Given the description of an element on the screen output the (x, y) to click on. 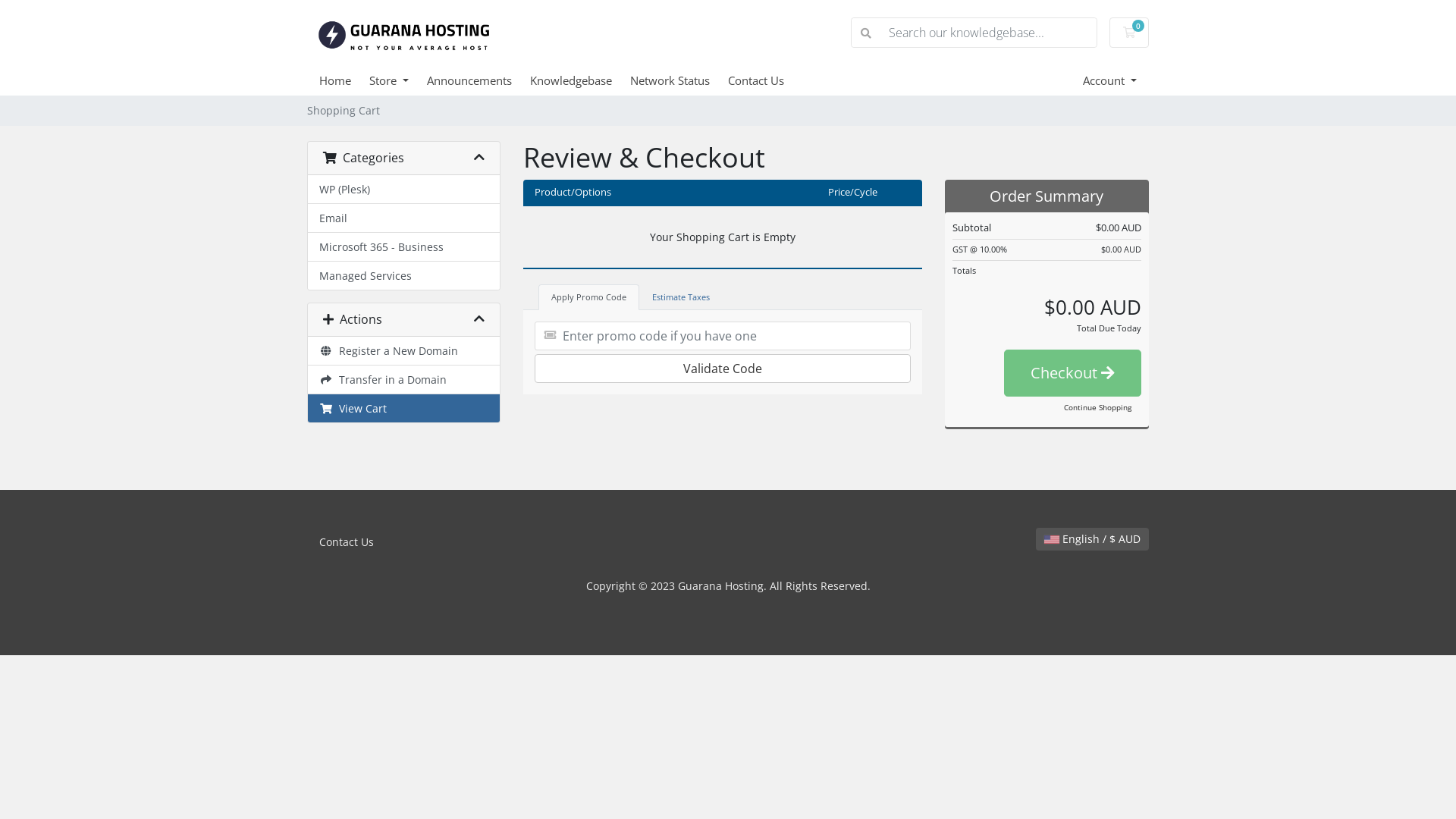
Announcements Element type: text (478, 79)
Home Element type: text (344, 79)
Microsoft 365 - Business Element type: text (403, 246)
Managed Services Element type: text (403, 275)
Store Element type: text (397, 79)
English / $ AUD Element type: text (1091, 538)
Email Element type: text (403, 217)
Contact Us Element type: text (765, 79)
Estimate Taxes Element type: text (680, 297)
  Transfer in a Domain Element type: text (403, 379)
Continue Shopping Element type: text (1097, 407)
Contact Us Element type: text (346, 541)
  View Cart Element type: text (403, 408)
Validate Code Element type: text (722, 368)
Knowledgebase Element type: text (580, 79)
0
Shopping Cart Element type: text (1128, 32)
Network Status Element type: text (679, 79)
  Register a New Domain Element type: text (403, 350)
Checkout Element type: text (1072, 372)
Apply Promo Code Element type: text (588, 297)
Account Element type: text (1109, 79)
WP (Plesk) Element type: text (403, 189)
